Given the description of an element on the screen output the (x, y) to click on. 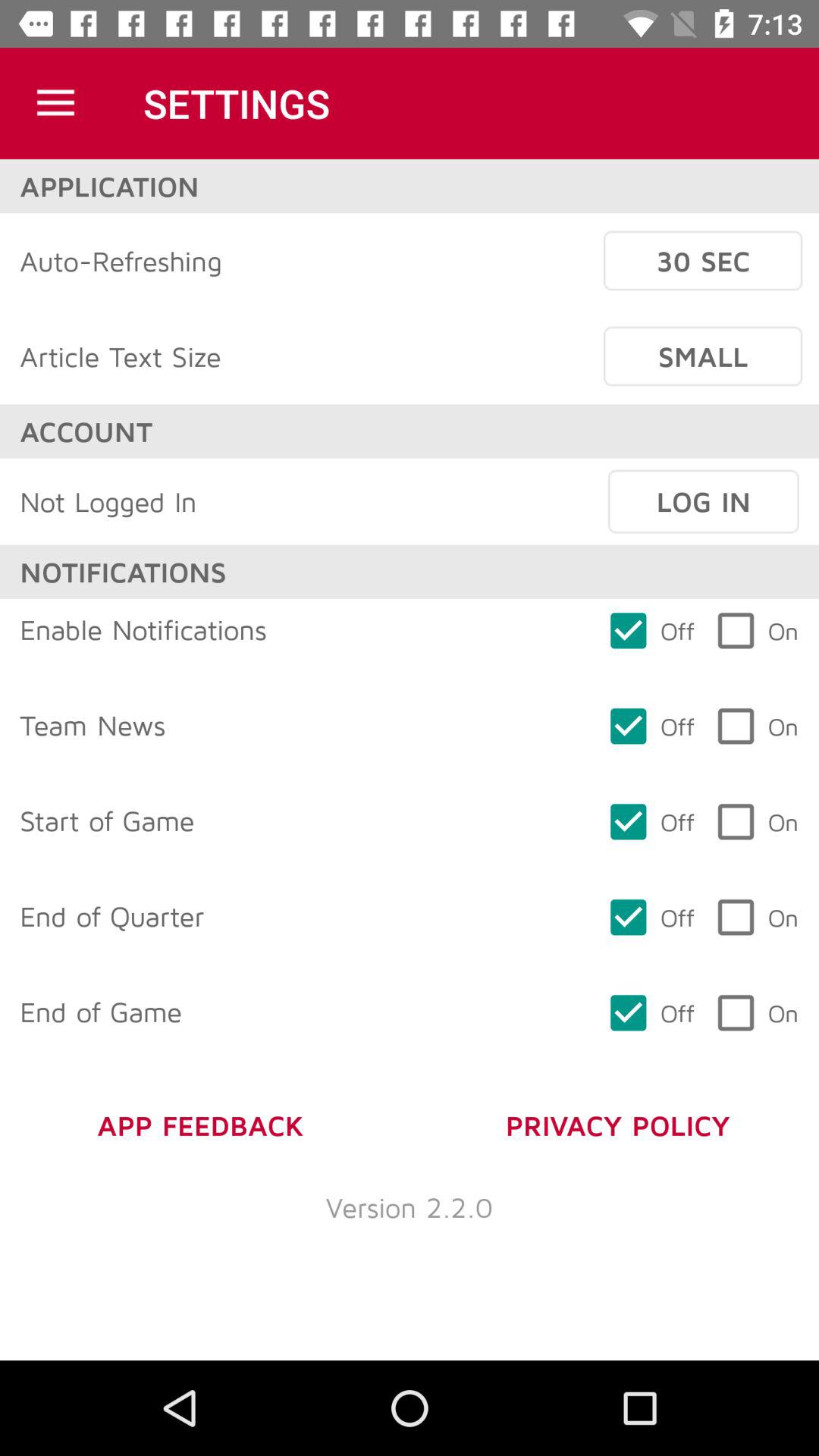
jump until the version 2 2 item (409, 1206)
